Given the description of an element on the screen output the (x, y) to click on. 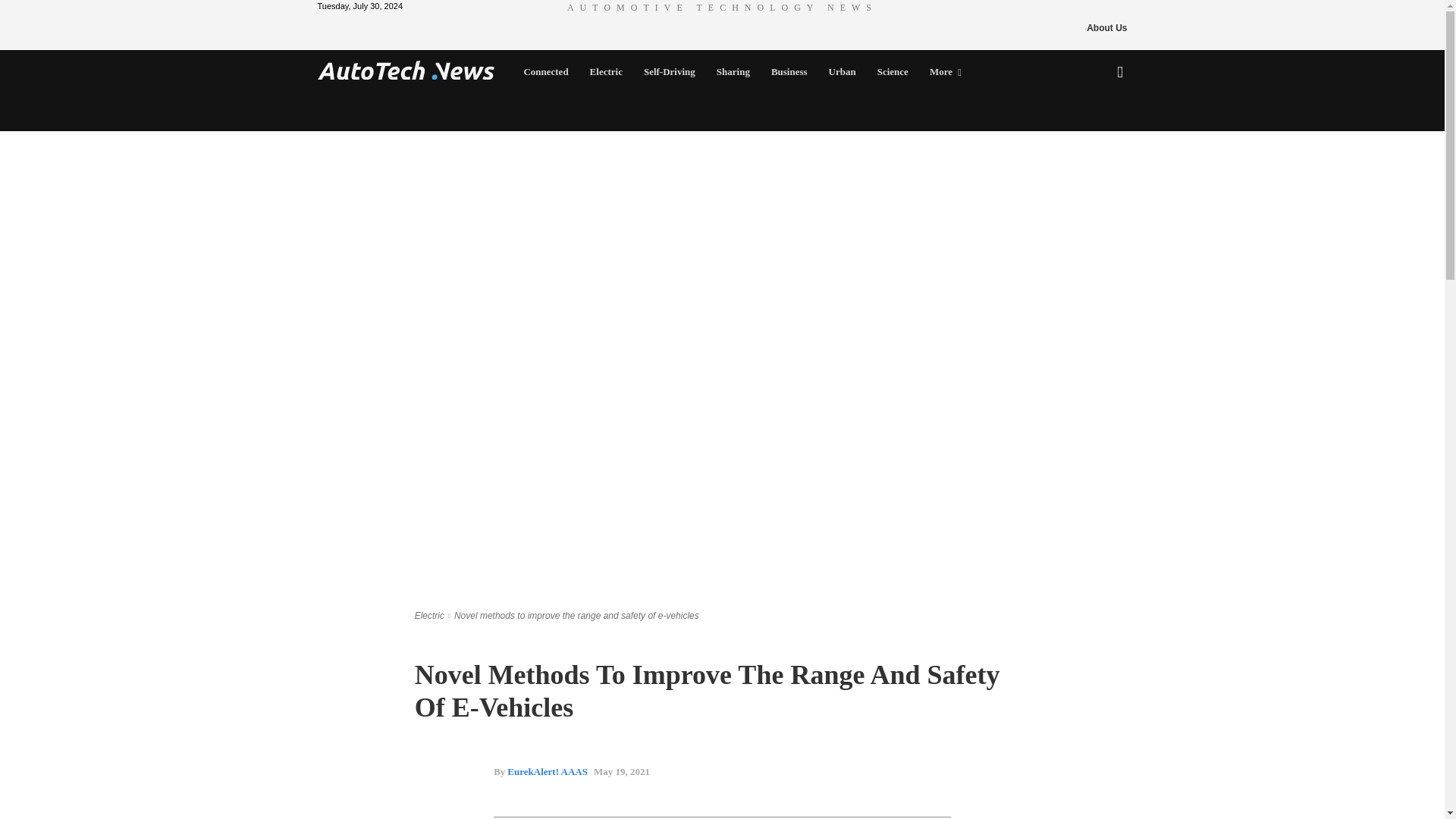
Business (789, 71)
Self-Driving (669, 71)
Electric (606, 71)
View all posts in Electric (429, 615)
Science (892, 71)
About Us (1106, 27)
Connected (545, 71)
Sharing (733, 71)
Urban (842, 71)
About Us (1106, 27)
More (945, 71)
AUTOMOTIVE TECHNOLOGY NEWS (722, 6)
